Given the description of an element on the screen output the (x, y) to click on. 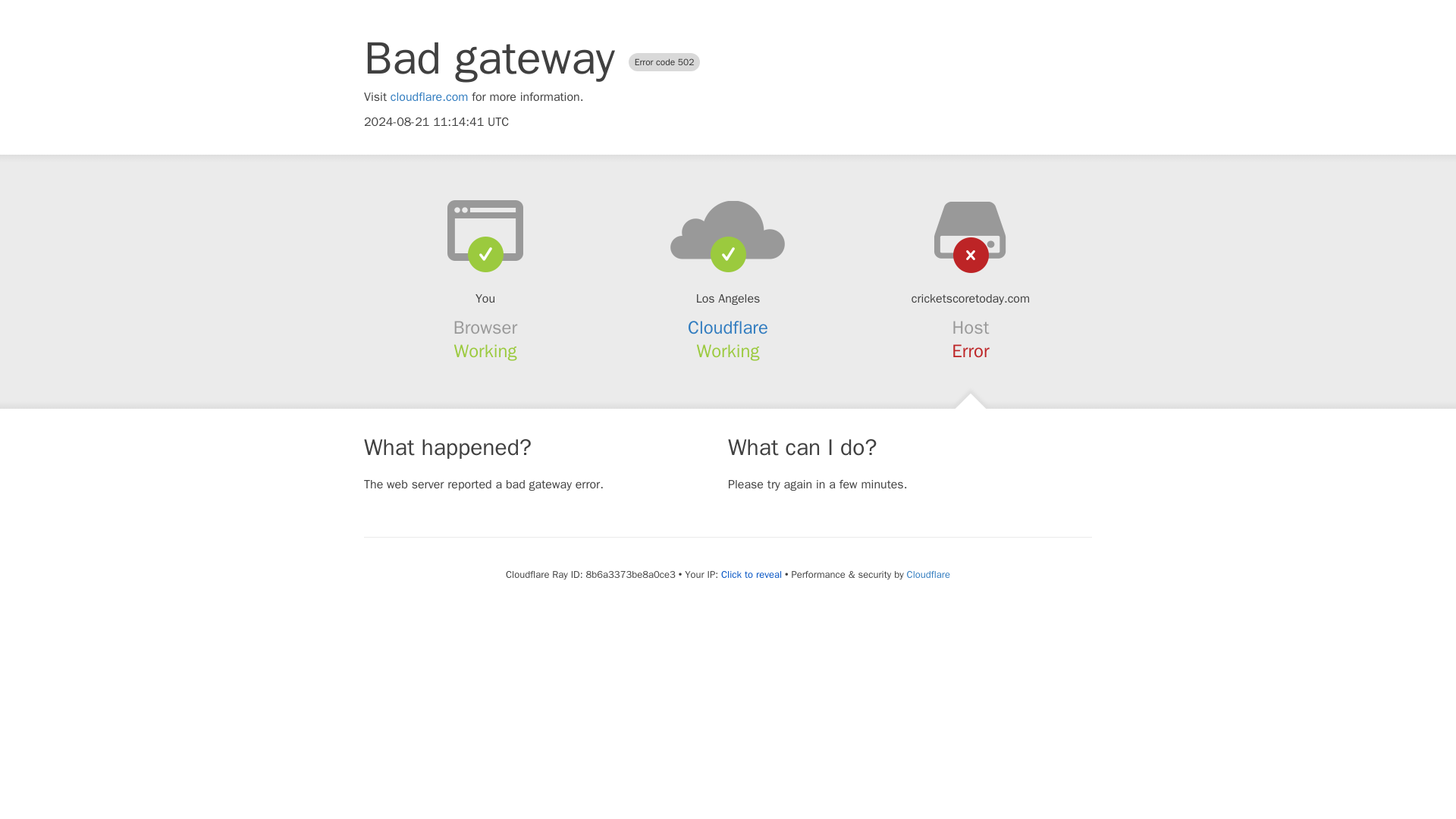
Cloudflare (928, 574)
Click to reveal (750, 574)
Cloudflare (727, 327)
cloudflare.com (429, 96)
